Given the description of an element on the screen output the (x, y) to click on. 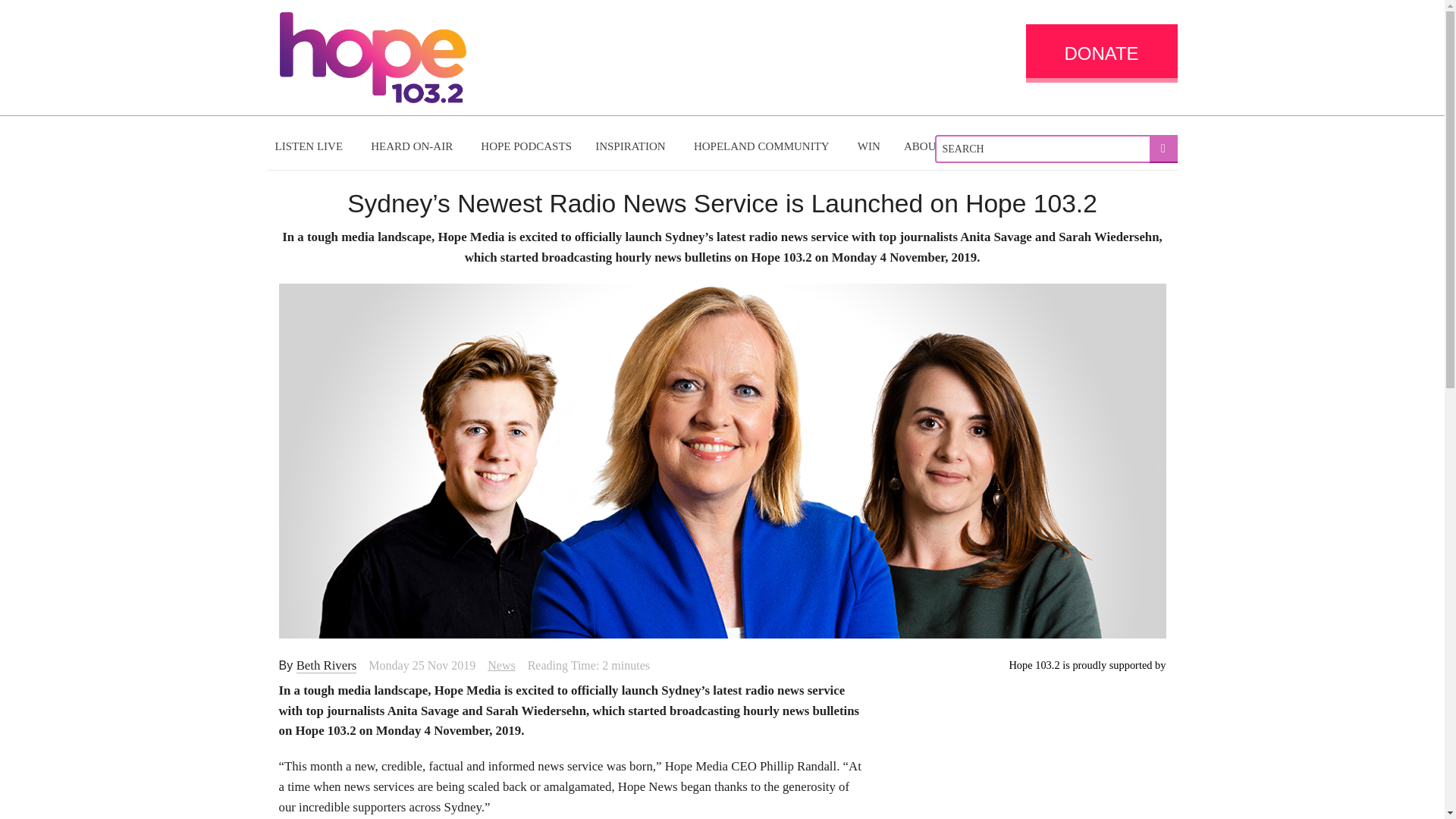
DONATE (1100, 53)
HOPE PODCASTS (526, 146)
INSPIRATION (633, 146)
LISTEN LIVE (310, 146)
HEARD ON-AIR (413, 146)
HOPELAND COMMUNITY (763, 146)
